Given the description of an element on the screen output the (x, y) to click on. 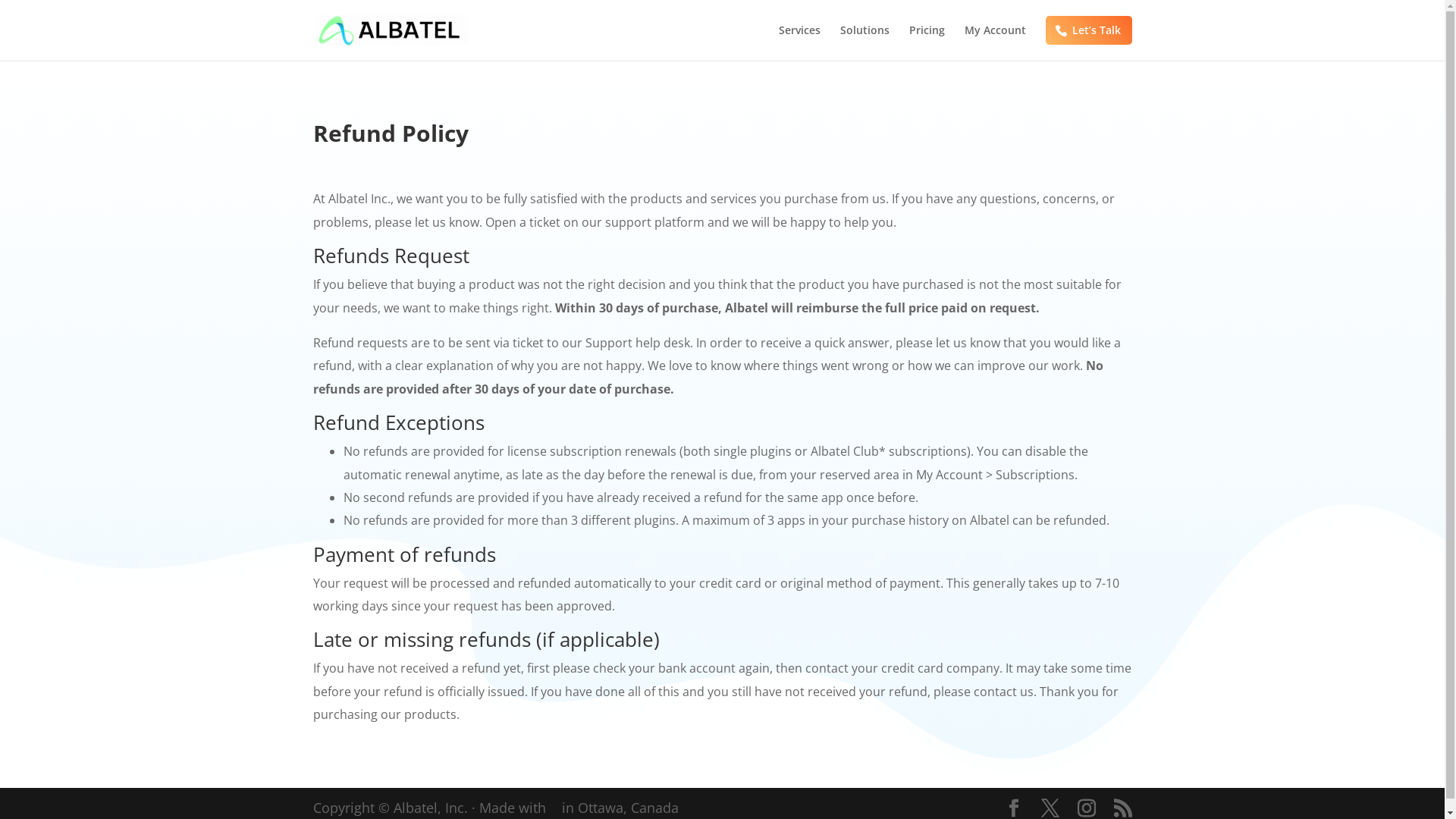
Solutions Element type: text (864, 42)
Pricing Element type: text (926, 42)
My Account Element type: text (995, 42)
Services Element type: text (798, 42)
